Given the description of an element on the screen output the (x, y) to click on. 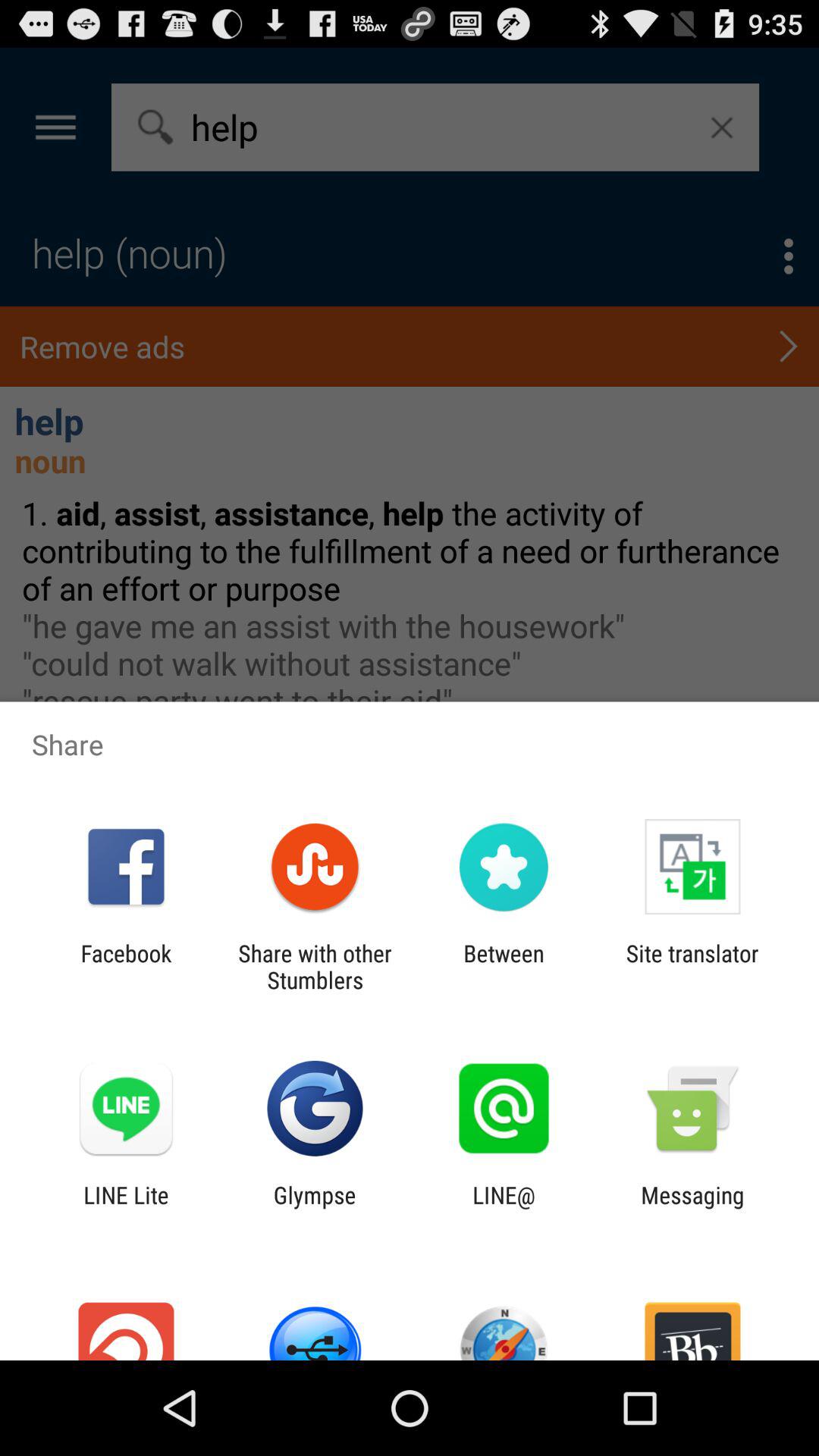
press site translator app (692, 966)
